Given the description of an element on the screen output the (x, y) to click on. 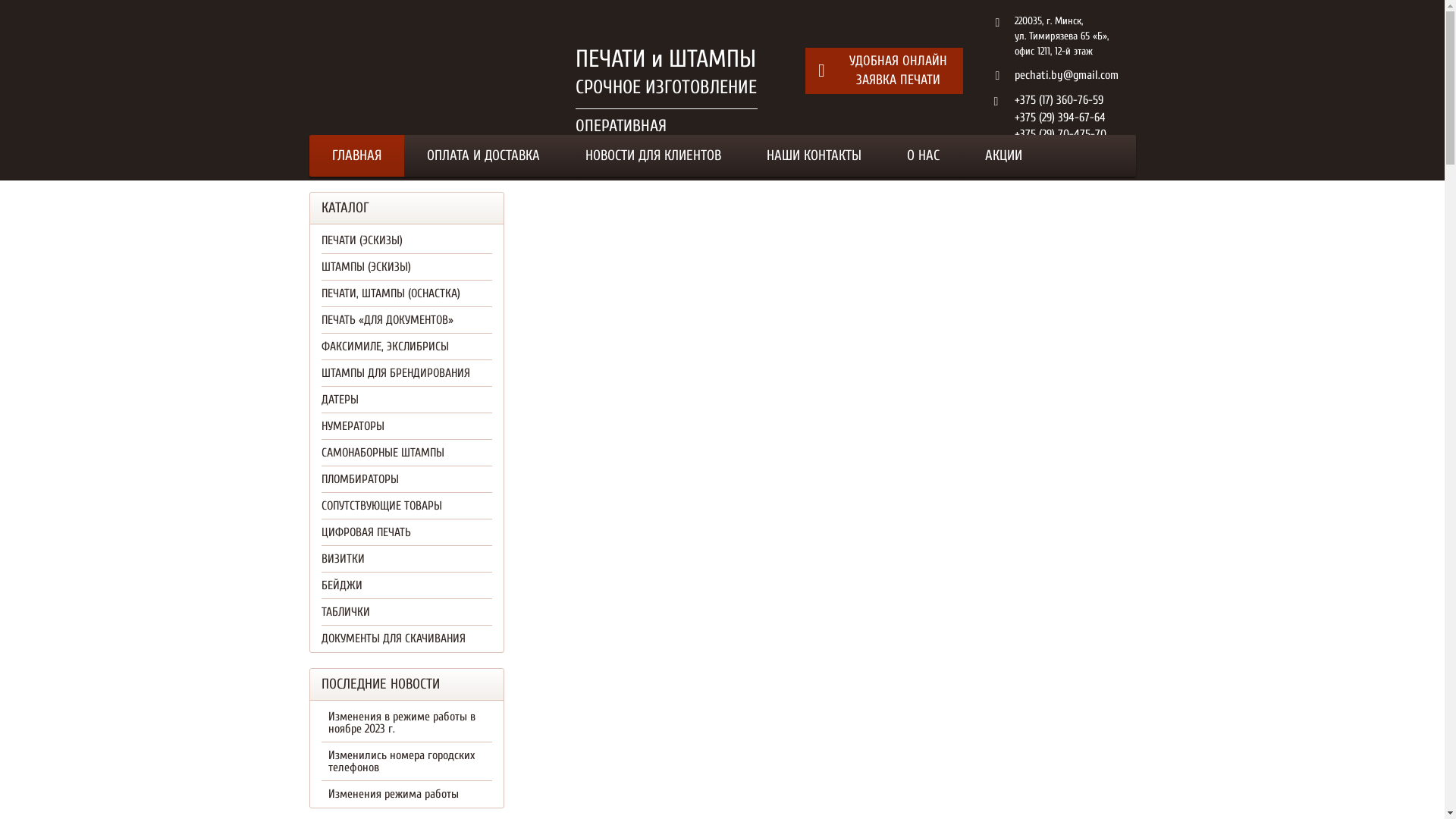
+375 (29) 394-67-64 Element type: text (1059, 117)
pechati.by@gmail.com Element type: text (1066, 74)
+375 (29) 70-475-70 Element type: text (1060, 134)
+375 (17) 360-76-59 Element type: text (1058, 99)
